Given the description of an element on the screen output the (x, y) to click on. 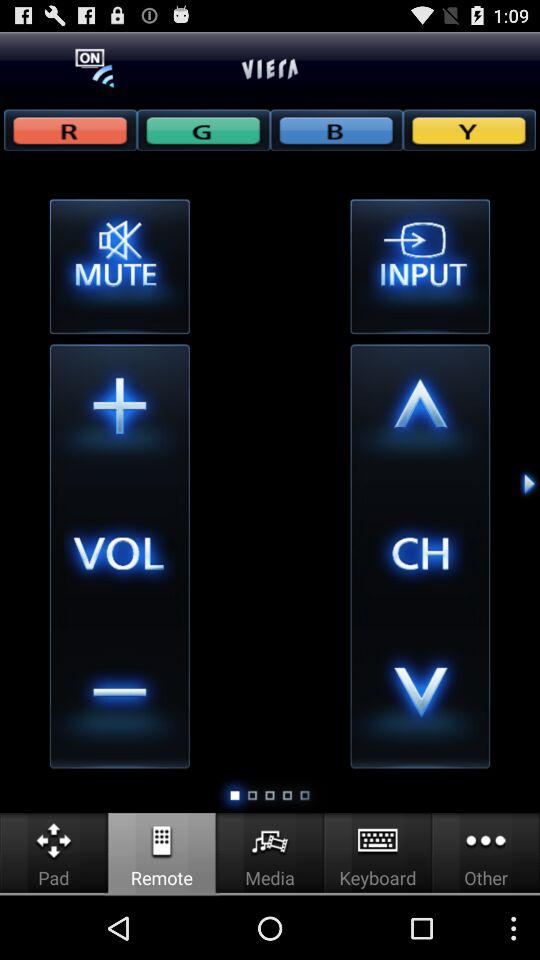
select b (336, 129)
